Given the description of an element on the screen output the (x, y) to click on. 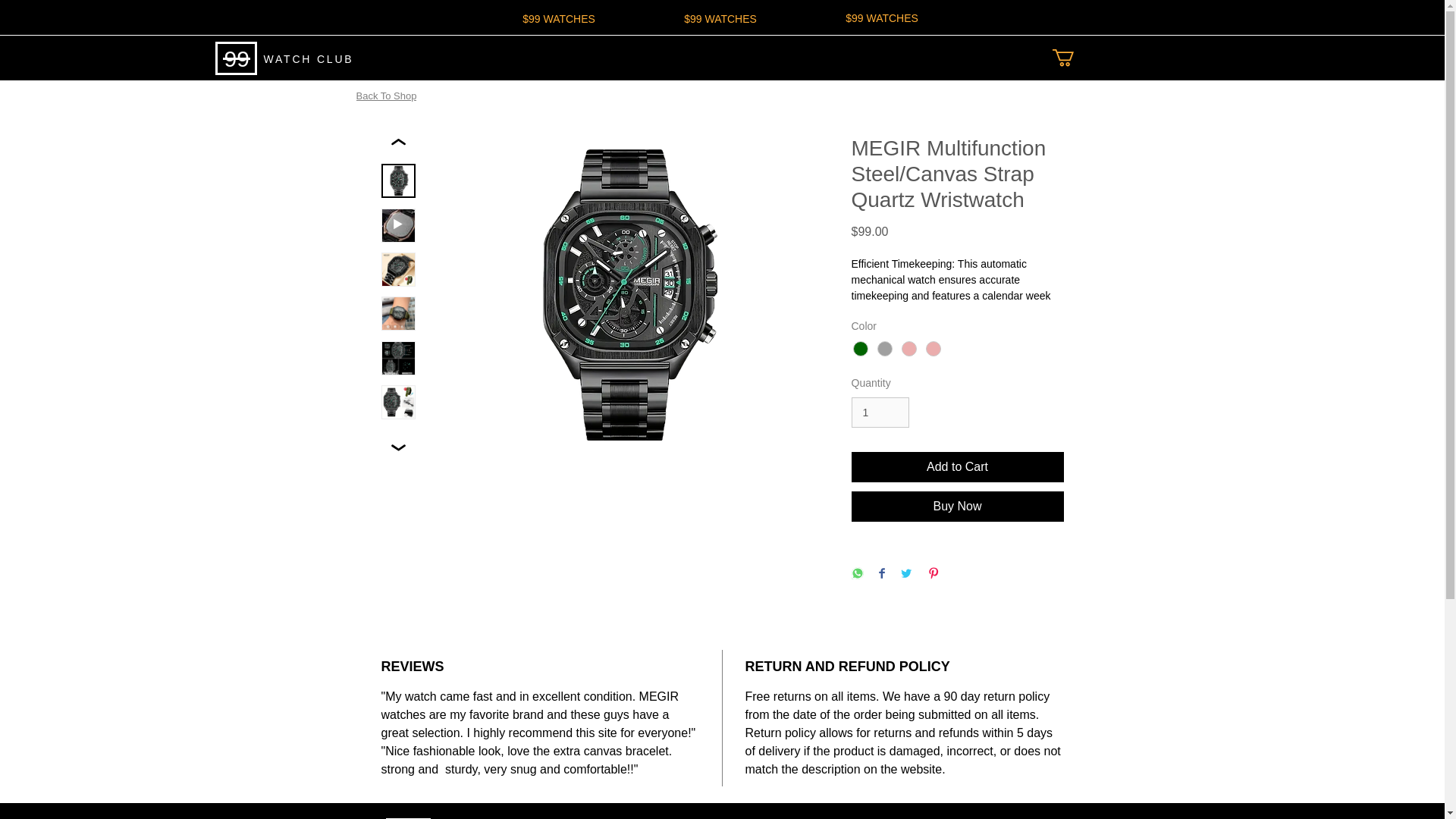
1 (879, 412)
Add to Cart (956, 467)
Buy Now (956, 506)
WATCH CLUB (308, 59)
Back To Shop (385, 95)
